Given the description of an element on the screen output the (x, y) to click on. 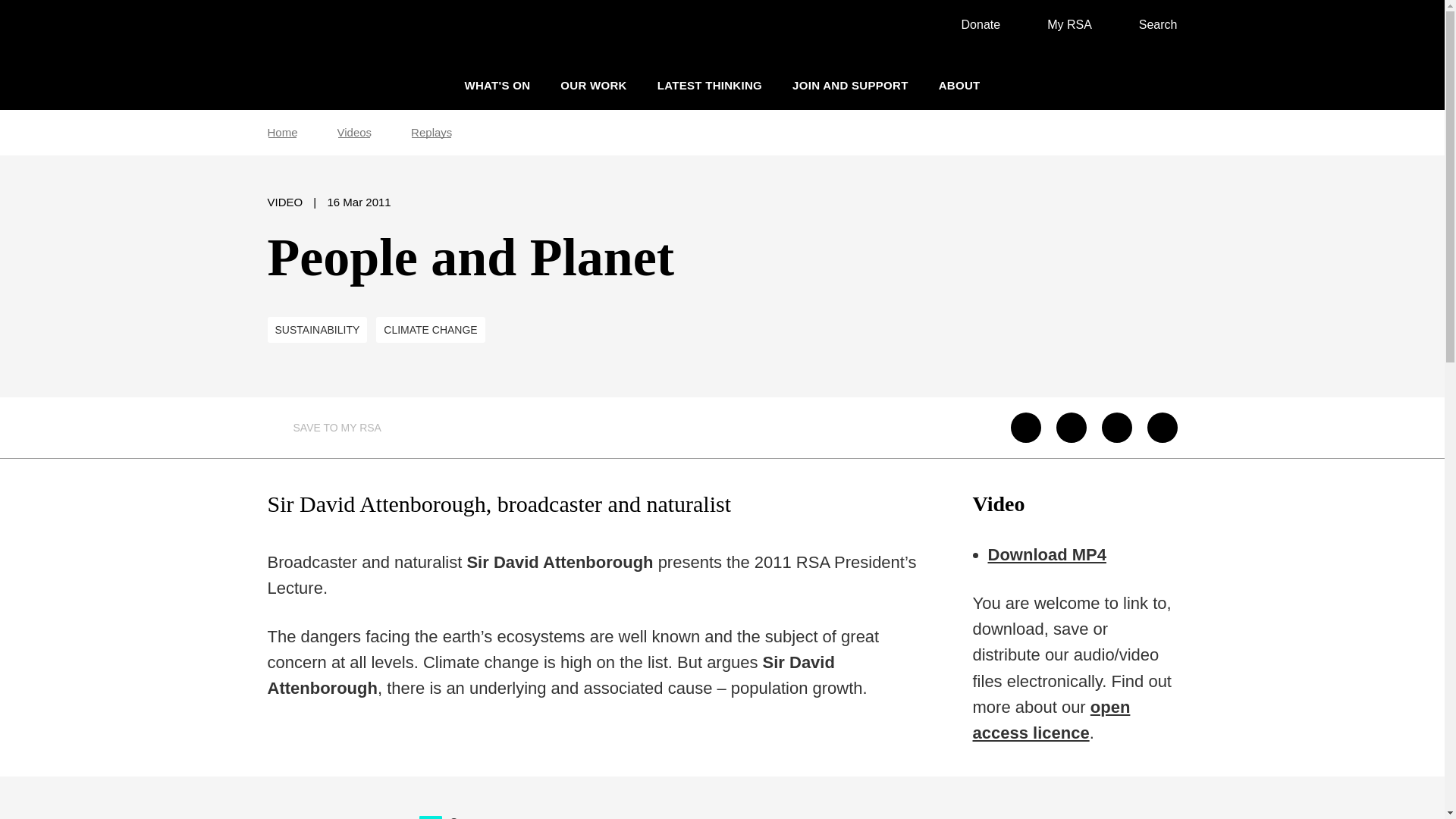
My RSA (1061, 24)
LATEST THINKING (709, 84)
0 (430, 816)
OUR WORK (593, 84)
Donate (972, 24)
Search (1149, 24)
WHAT'S ON (496, 84)
